Given the description of an element on the screen output the (x, y) to click on. 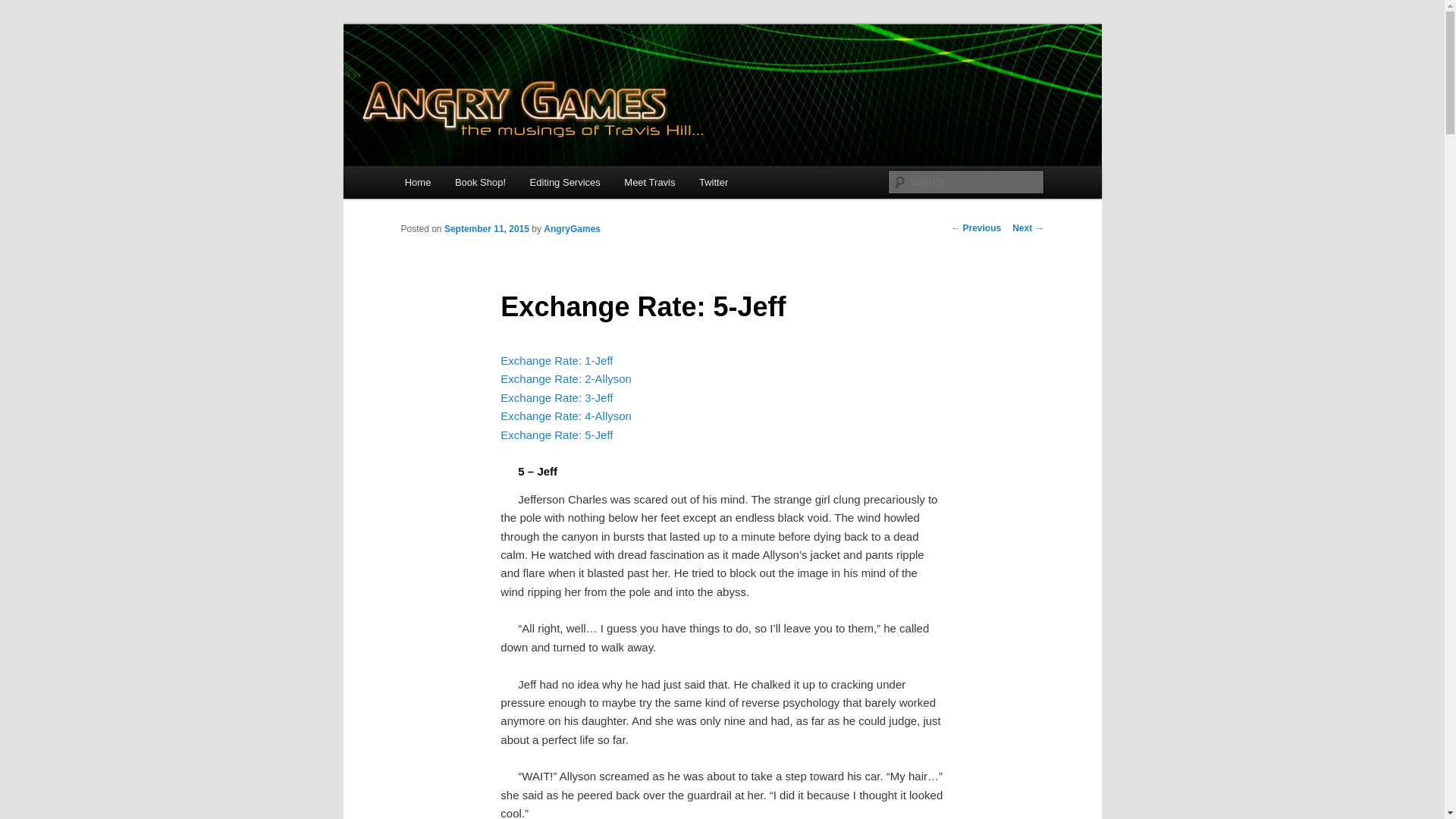
Exchange Rate: 3-Jeff (556, 397)
Search (24, 8)
AngryGames (571, 228)
Exchange Rate: 5-Jeff (556, 433)
Angry Games (474, 78)
View all posts by AngryGames (571, 228)
Home (417, 182)
September 11, 2015 (486, 228)
Exchange Rate: 2-Allyson (565, 378)
Exchange Rate: 4-Allyson (565, 415)
Meet Travis (649, 182)
12:26 AM (486, 228)
Editing Services (565, 182)
Book Shop! (480, 182)
